Given the description of an element on the screen output the (x, y) to click on. 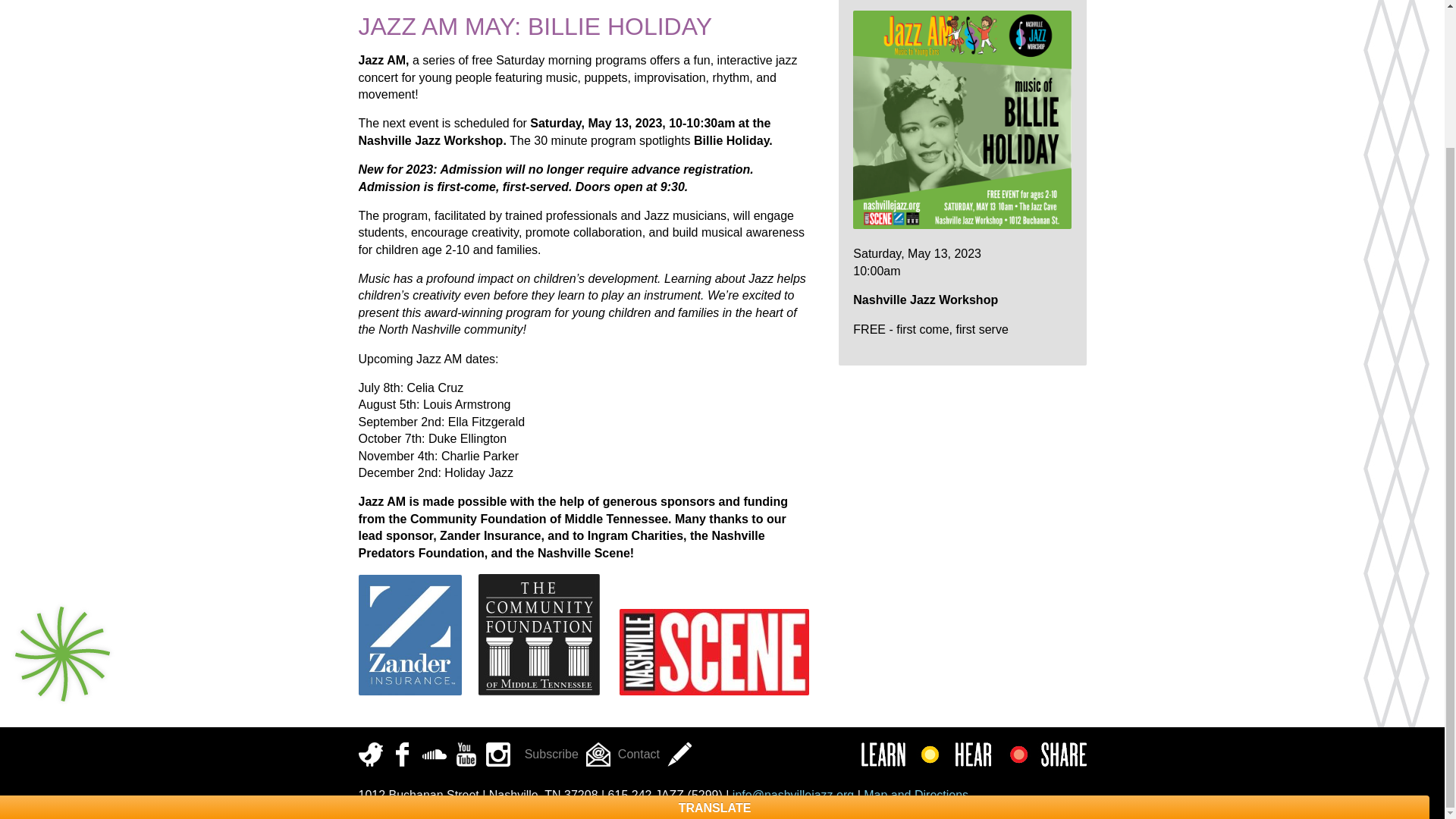
Twitter (369, 754)
Nashville Jazz Workshop (396, 3)
Facebook (401, 754)
Youtube (464, 754)
Soundcloud (433, 754)
Instagram (496, 754)
